Given the description of an element on the screen output the (x, y) to click on. 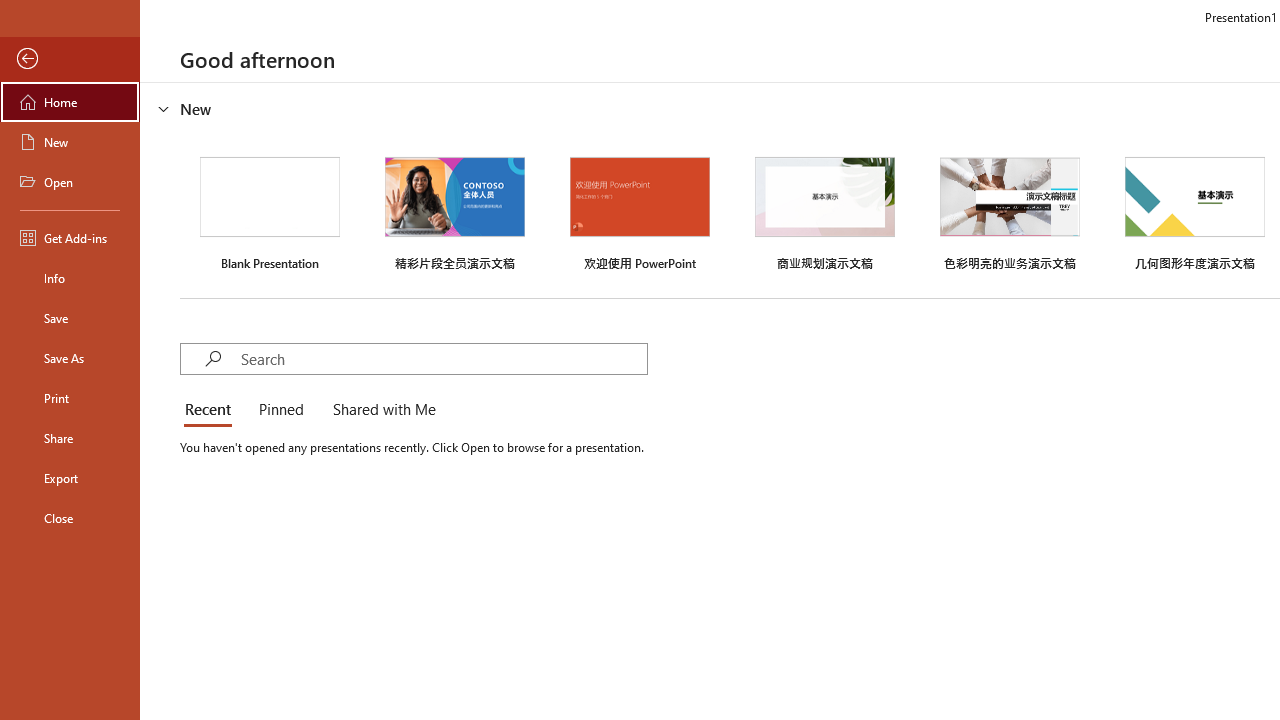
Hide or show region (164, 108)
Get Add-ins (69, 237)
Back (69, 59)
Recent (212, 410)
Print (69, 398)
Blank Presentation (269, 211)
Pinned (280, 410)
Export (69, 477)
